Given the description of an element on the screen output the (x, y) to click on. 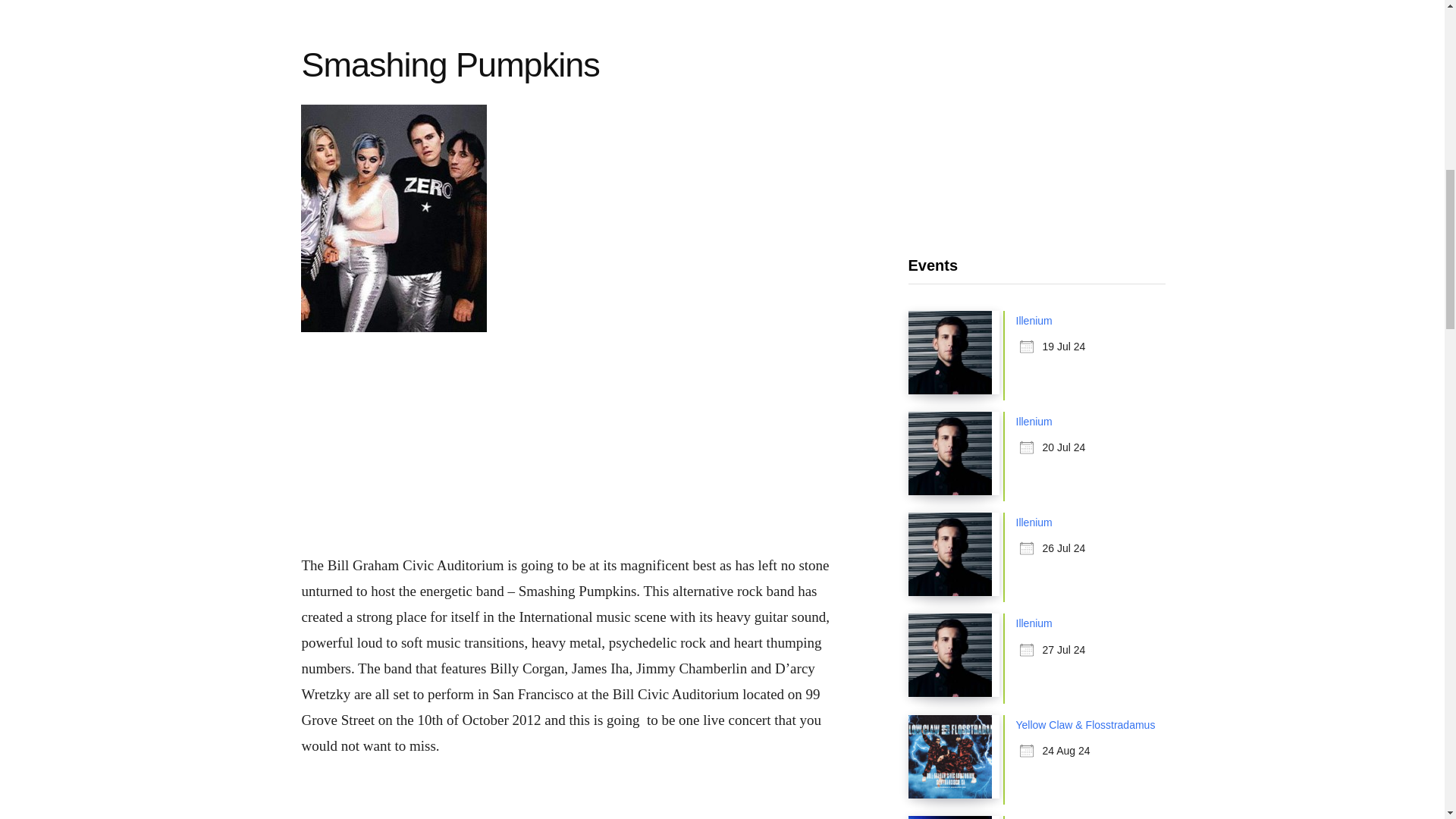
Illenium (1034, 623)
Illenium (1034, 320)
Illenium (1034, 421)
Illenium (1034, 522)
